Given the description of an element on the screen output the (x, y) to click on. 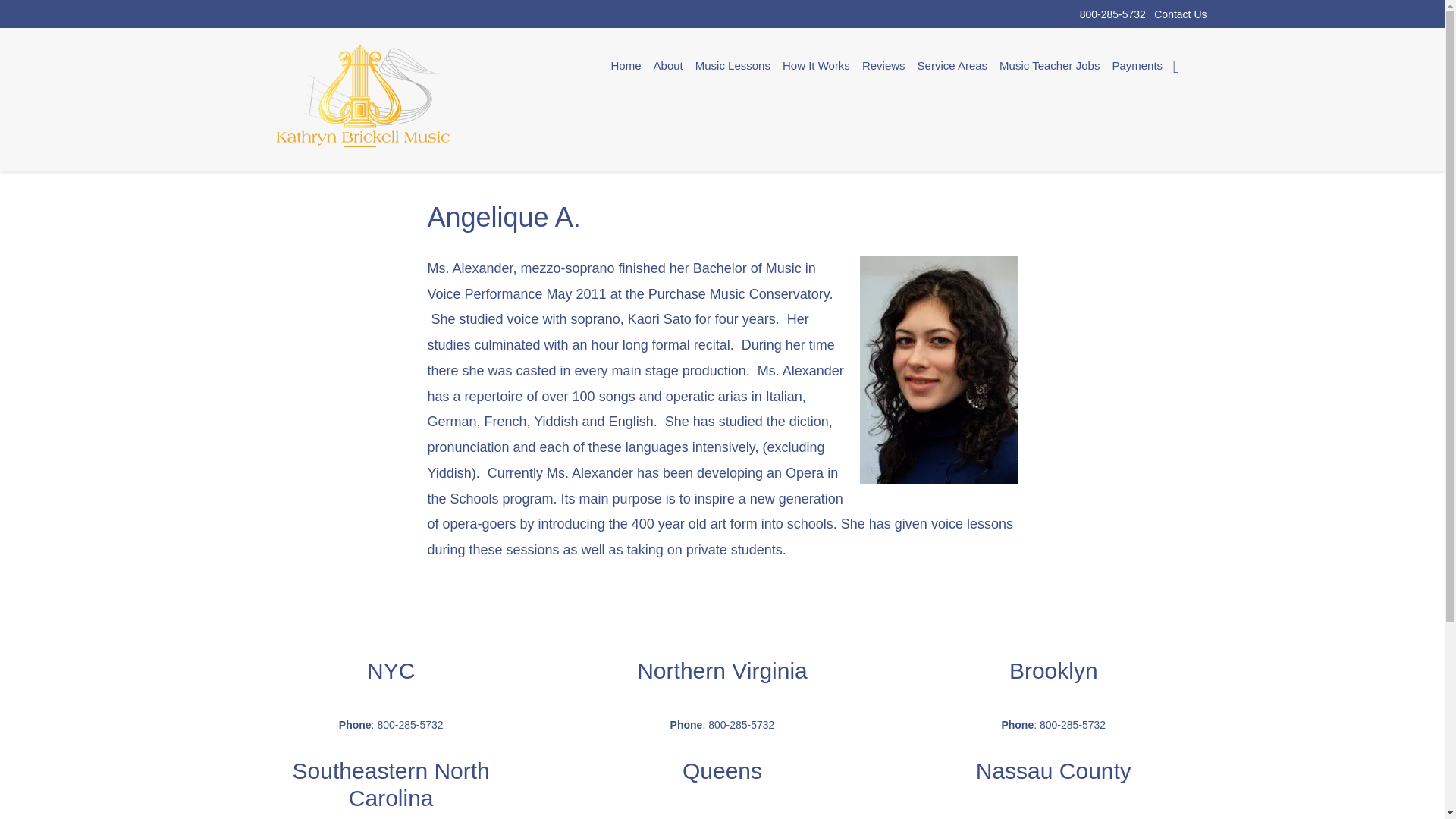
Home (626, 65)
Contact Us (1180, 13)
Music Lessons (732, 65)
About (667, 65)
800-285-5732 (1112, 13)
